Given the description of an element on the screen output the (x, y) to click on. 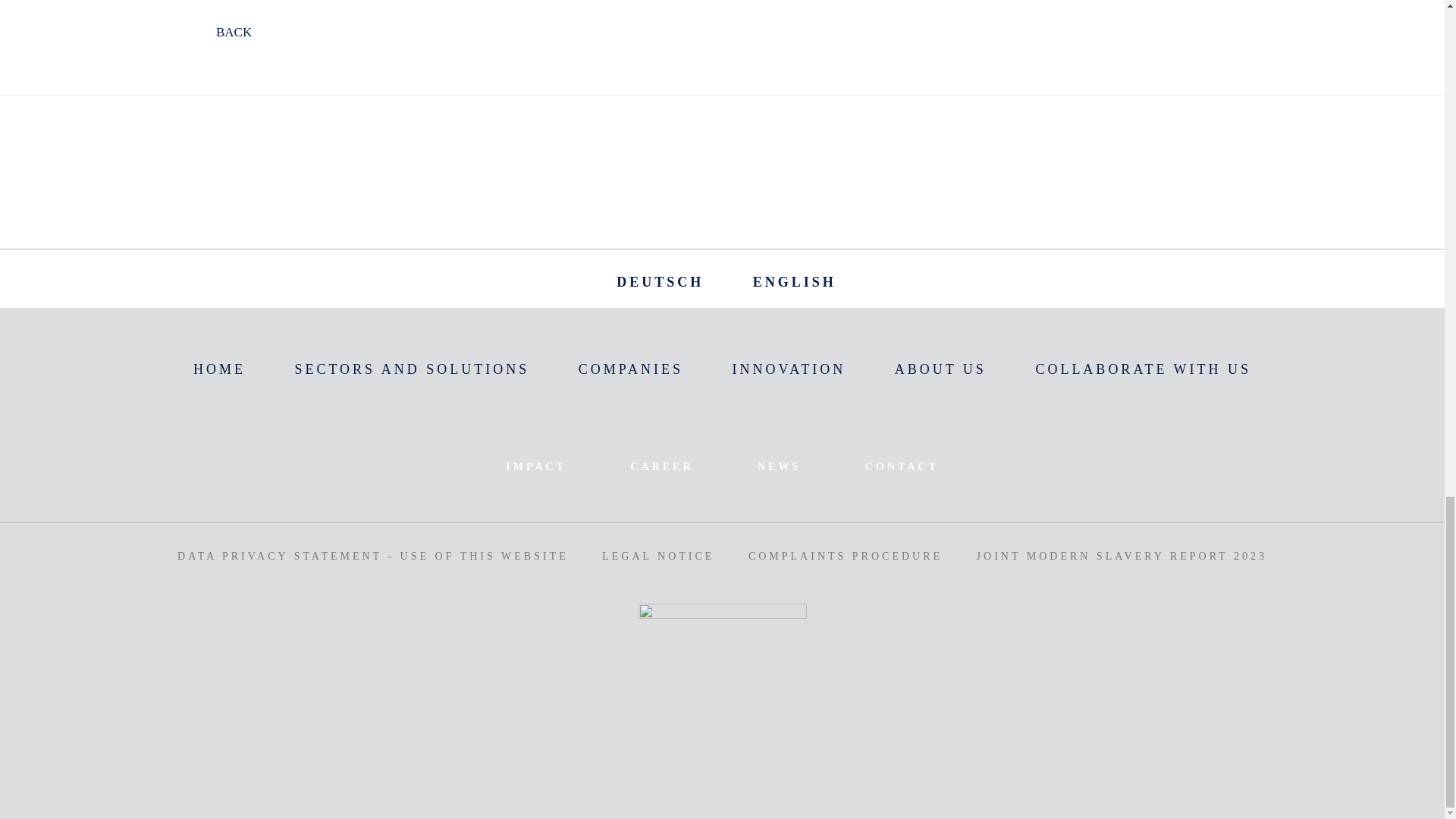
COMPLAINTS PROCEDURE (845, 555)
HOME (219, 368)
INNOVATION (788, 368)
Contact (901, 465)
Collaborate with Us (1142, 368)
Career (661, 465)
Innovation (788, 368)
DATA PRIVACY STATEMENT - USE OF THIS WEBSITE (373, 555)
Back (195, 39)
CONTACT (901, 465)
